Given the description of an element on the screen output the (x, y) to click on. 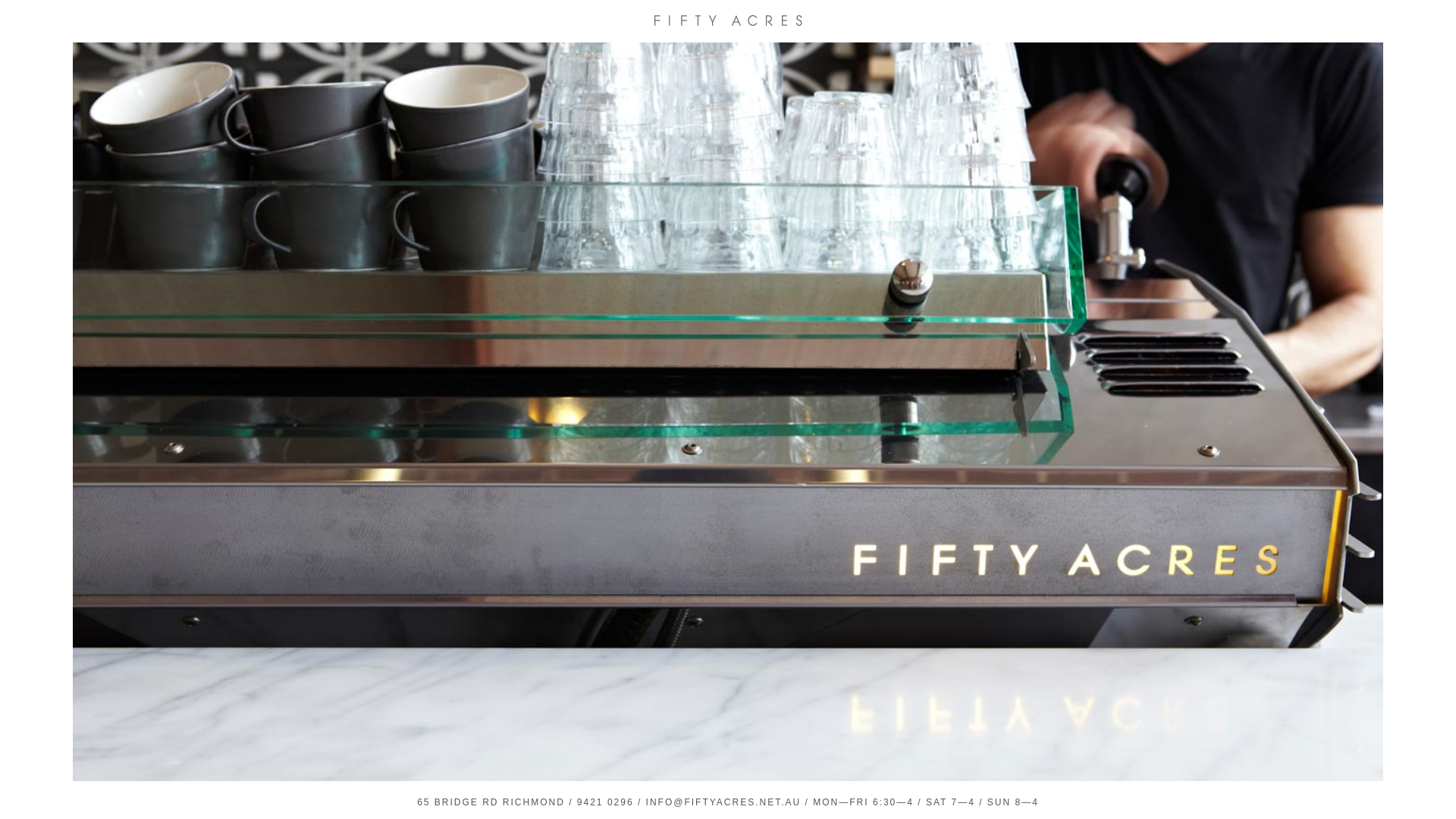
INFO@FIFTYACRES.NET.AU Element type: text (723, 802)
65 BRIDGE RD RICHMOND Element type: text (490, 802)
